Given the description of an element on the screen output the (x, y) to click on. 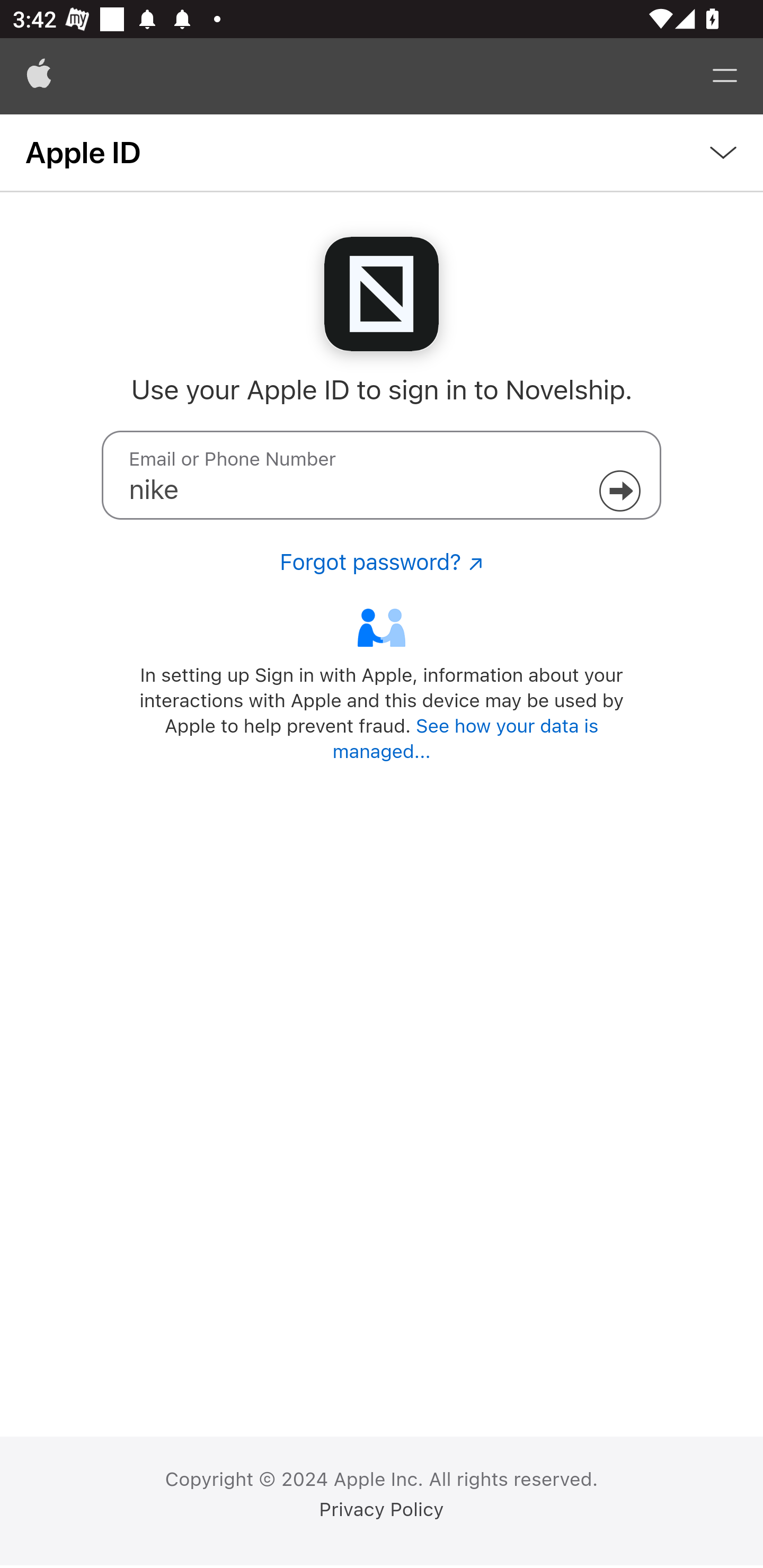
Apple (38, 75)
Menu (724, 75)
nike (381, 475)
Continue (618, 490)
Privacy Policy (381, 1509)
